Given the description of an element on the screen output the (x, y) to click on. 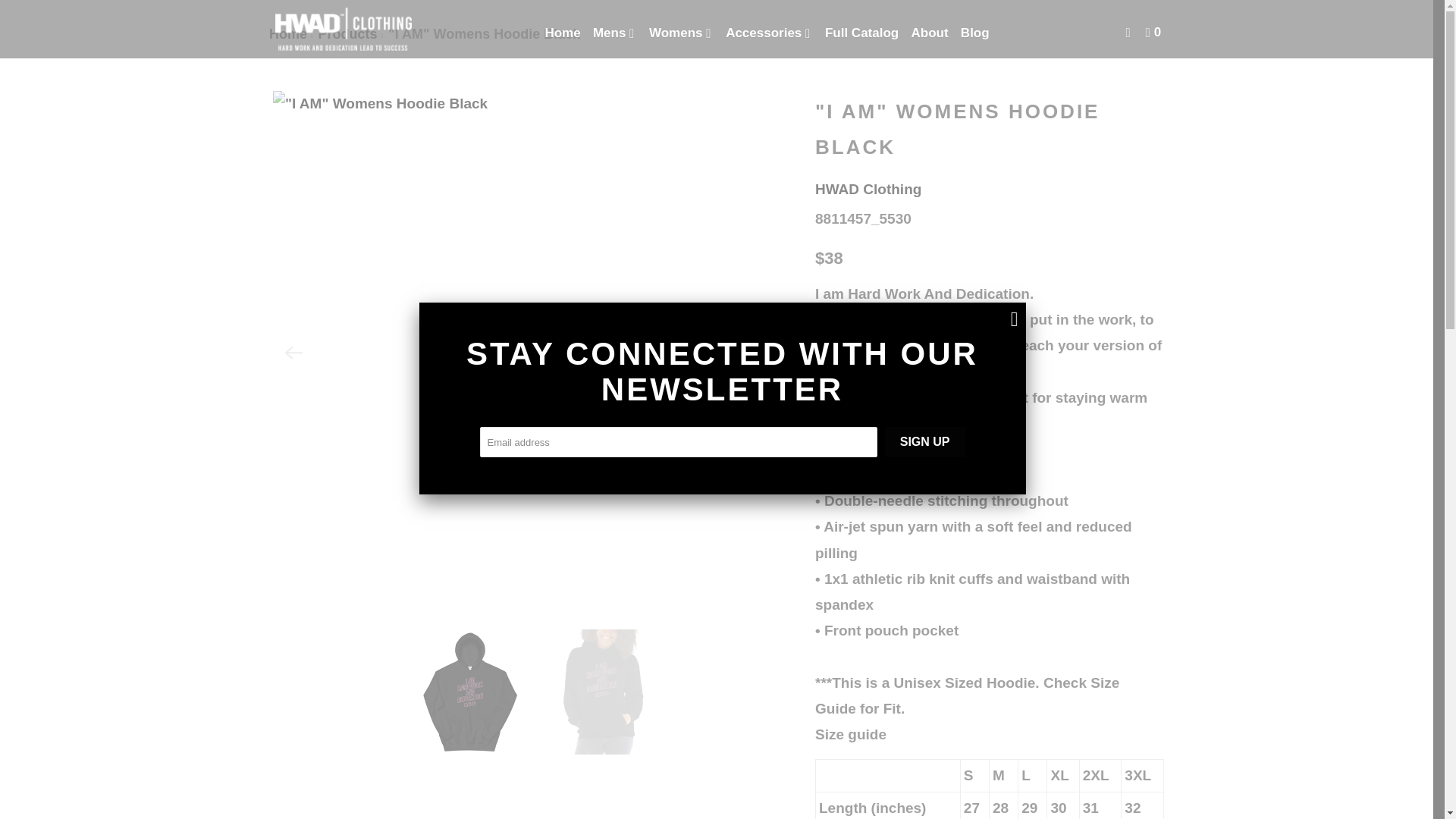
Sign Up (925, 441)
Products (347, 33)
HWAD Clothing (342, 29)
HWAD Clothing (868, 188)
HWAD Clothing (288, 33)
